Given the description of an element on the screen output the (x, y) to click on. 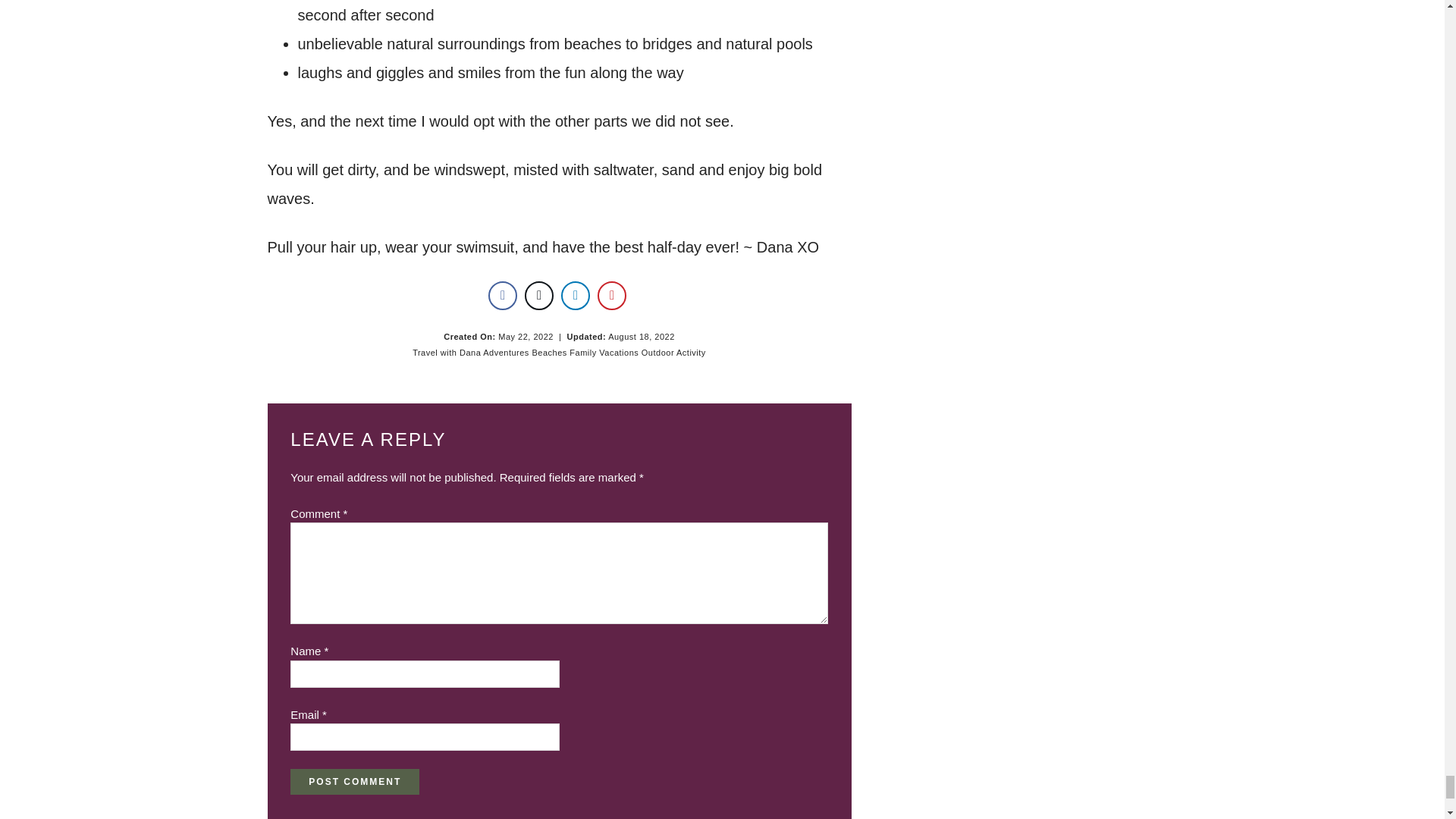
Post Comment (354, 781)
